Given the description of an element on the screen output the (x, y) to click on. 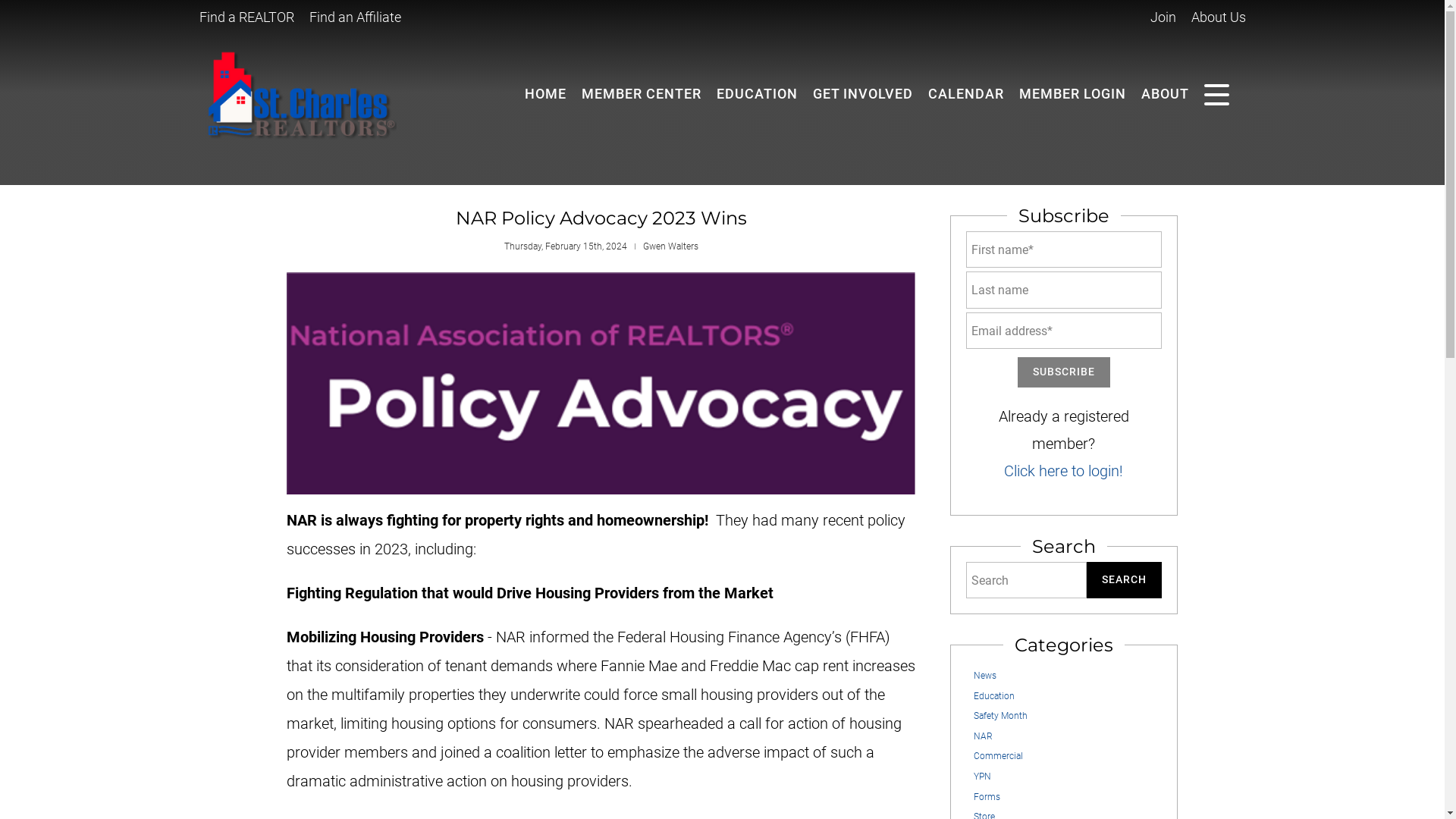
GET INVOLVED (862, 93)
MEMBER LOGIN (1072, 93)
MEMBER CENTER (640, 93)
Subscribe (1063, 372)
Find a REALTOR (246, 17)
EDUCATION (756, 93)
Join (1162, 17)
Find an Affiliate (354, 17)
ABOUT (1163, 93)
Search (1123, 579)
HOME (544, 93)
About Us (1217, 17)
CALENDAR (965, 93)
